Given the description of an element on the screen output the (x, y) to click on. 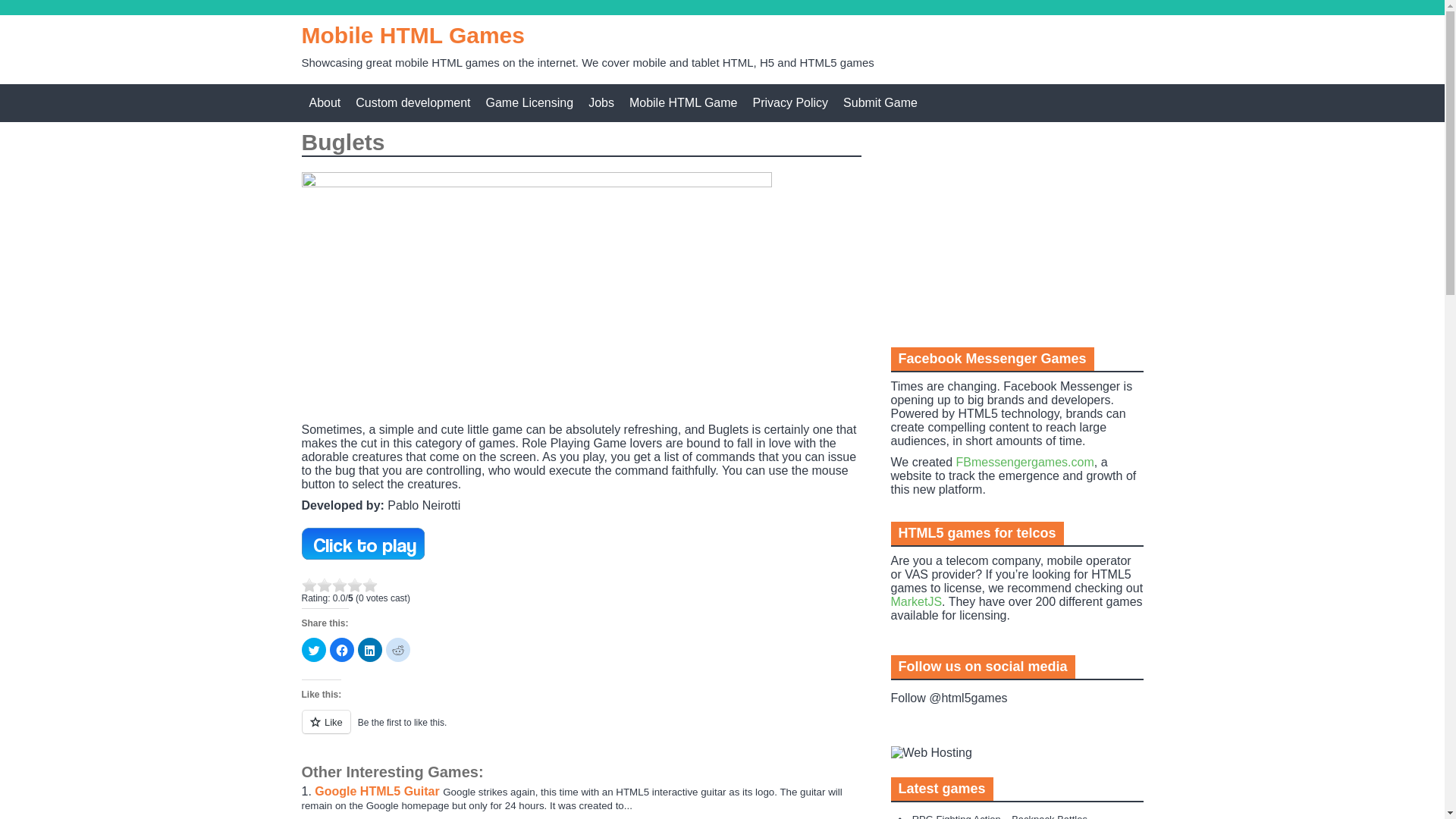
Google HTML5 Guitar (378, 790)
Click to share on Twitter (313, 649)
Advertisement (1003, 231)
Click to share on Reddit (397, 649)
Submit Game (879, 103)
Privacy Policy (789, 103)
MarketJS (915, 601)
Mobile HTML Games (413, 34)
Click to share on Facebook (341, 649)
FBmessengergames.com (1024, 461)
Jobs (600, 103)
Click to share on LinkedIn (369, 649)
Mobile HTML Game (683, 103)
Game Licensing (528, 103)
Google HTML5 Guitar (378, 790)
